Given the description of an element on the screen output the (x, y) to click on. 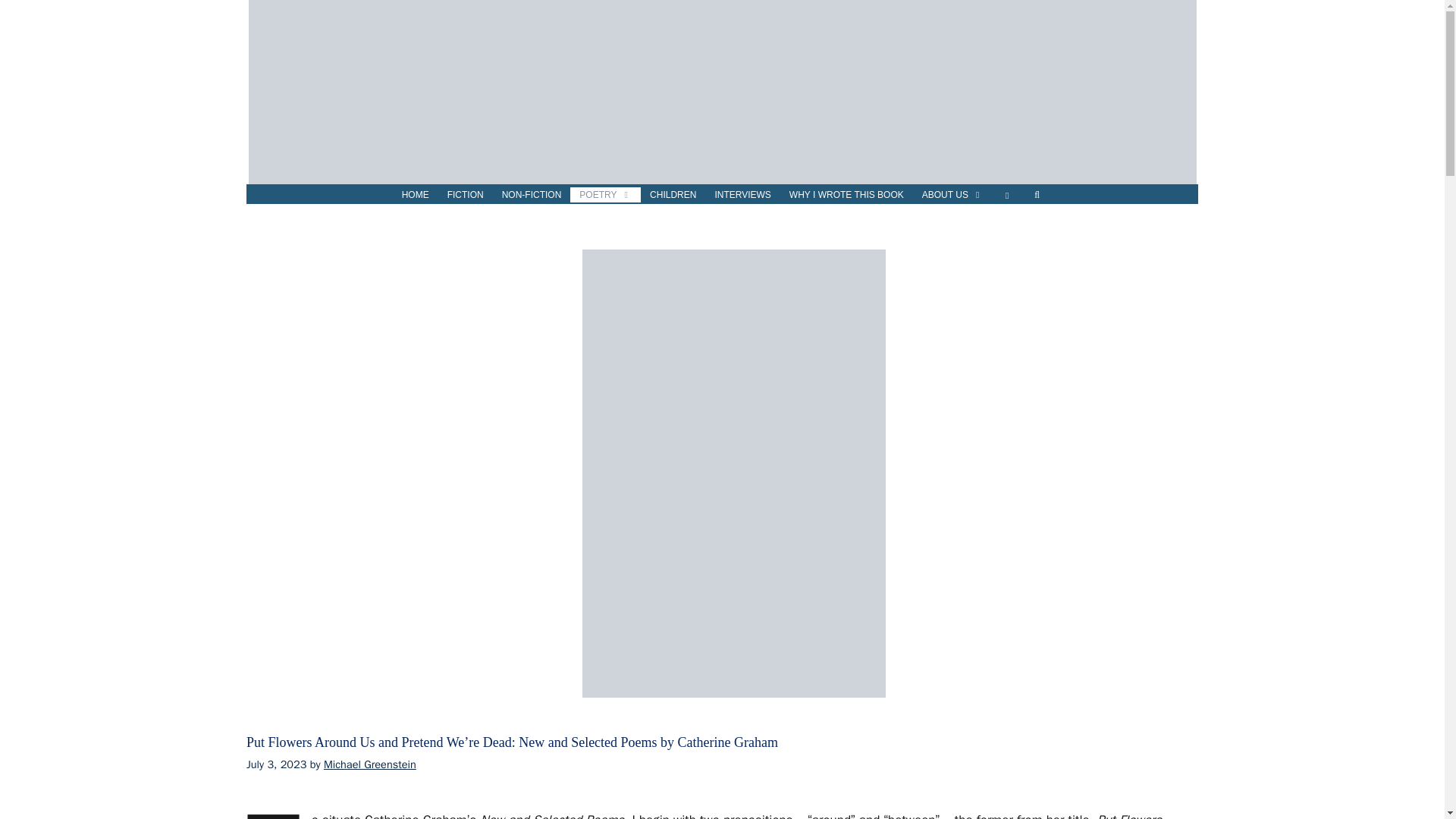
FICTION (465, 194)
View all posts by Michael Greenstein (369, 764)
TMR Home Page (415, 194)
WHY I WROTE THIS BOOK (846, 194)
Michael Greenstein (369, 764)
CHILDREN (672, 194)
ABOUT US (952, 194)
NON-FICTION (531, 194)
INTERVIEWS (741, 194)
HOME (415, 194)
POETRY (605, 194)
